Given the description of an element on the screen output the (x, y) to click on. 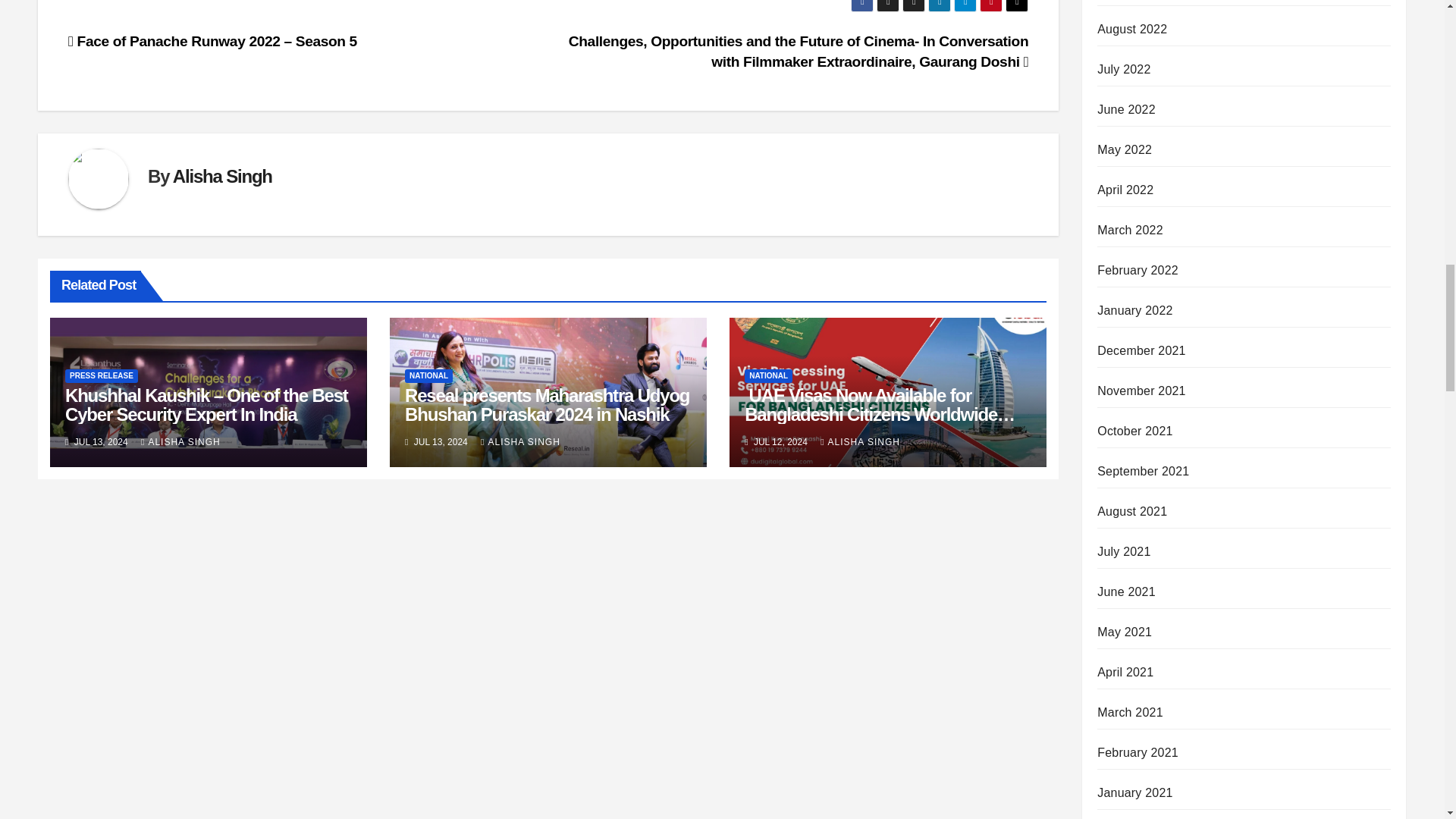
PRESS RELEASE (101, 376)
Alisha Singh (222, 176)
